Given the description of an element on the screen output the (x, y) to click on. 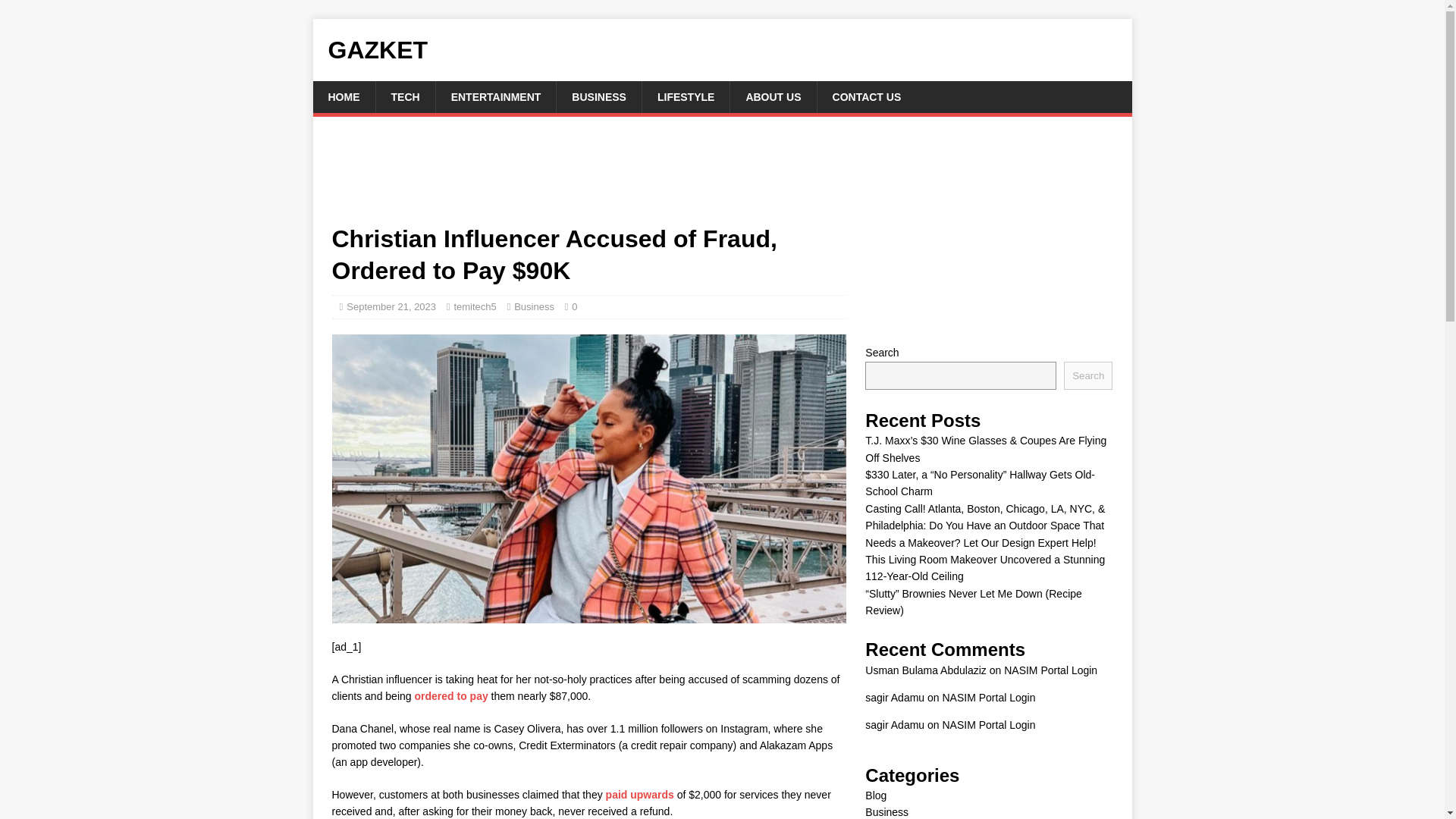
ENTERTAINMENT (495, 97)
September 21, 2023 (390, 306)
NASIM Portal Login (988, 697)
LIFESTYLE (685, 97)
HOME (343, 97)
ordered to pay (450, 695)
BUSINESS (599, 97)
ABOUT US (772, 97)
TECH (403, 97)
temitech5 (474, 306)
Gazket (721, 49)
Business (533, 306)
Search (1088, 375)
Usman Bulama Abdulaziz (925, 670)
